Given the description of an element on the screen output the (x, y) to click on. 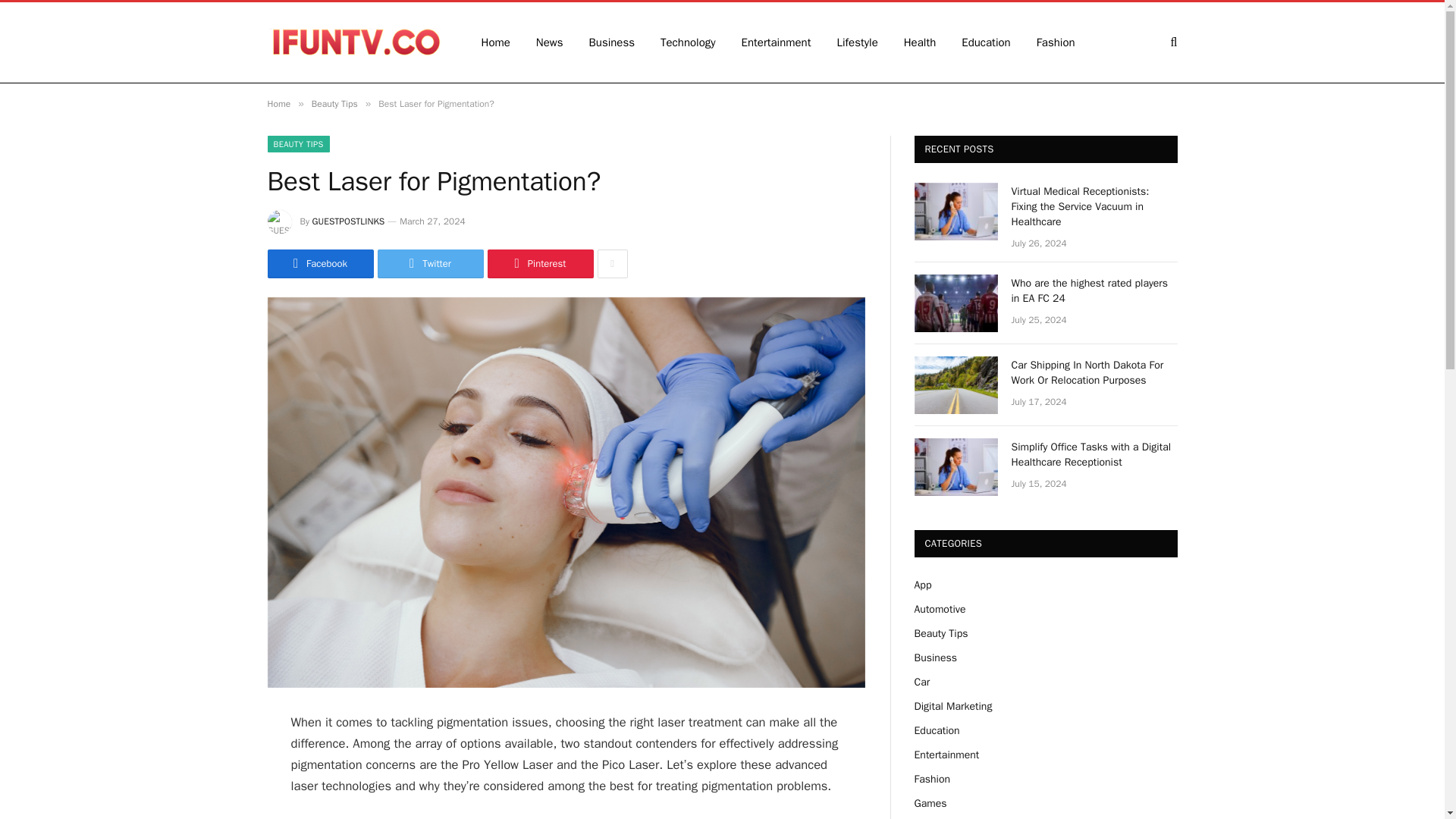
BEAUTY TIPS (297, 143)
Health (920, 42)
Facebook (319, 263)
Technology (688, 42)
Business (611, 42)
Ifuntv.co (353, 42)
Show More Social Sharing (611, 263)
Twitter (430, 263)
Home (277, 103)
Beauty Tips (334, 103)
Education (986, 42)
Home (495, 42)
Search (1172, 42)
Entertainment (776, 42)
Fashion (1055, 42)
